Given the description of an element on the screen output the (x, y) to click on. 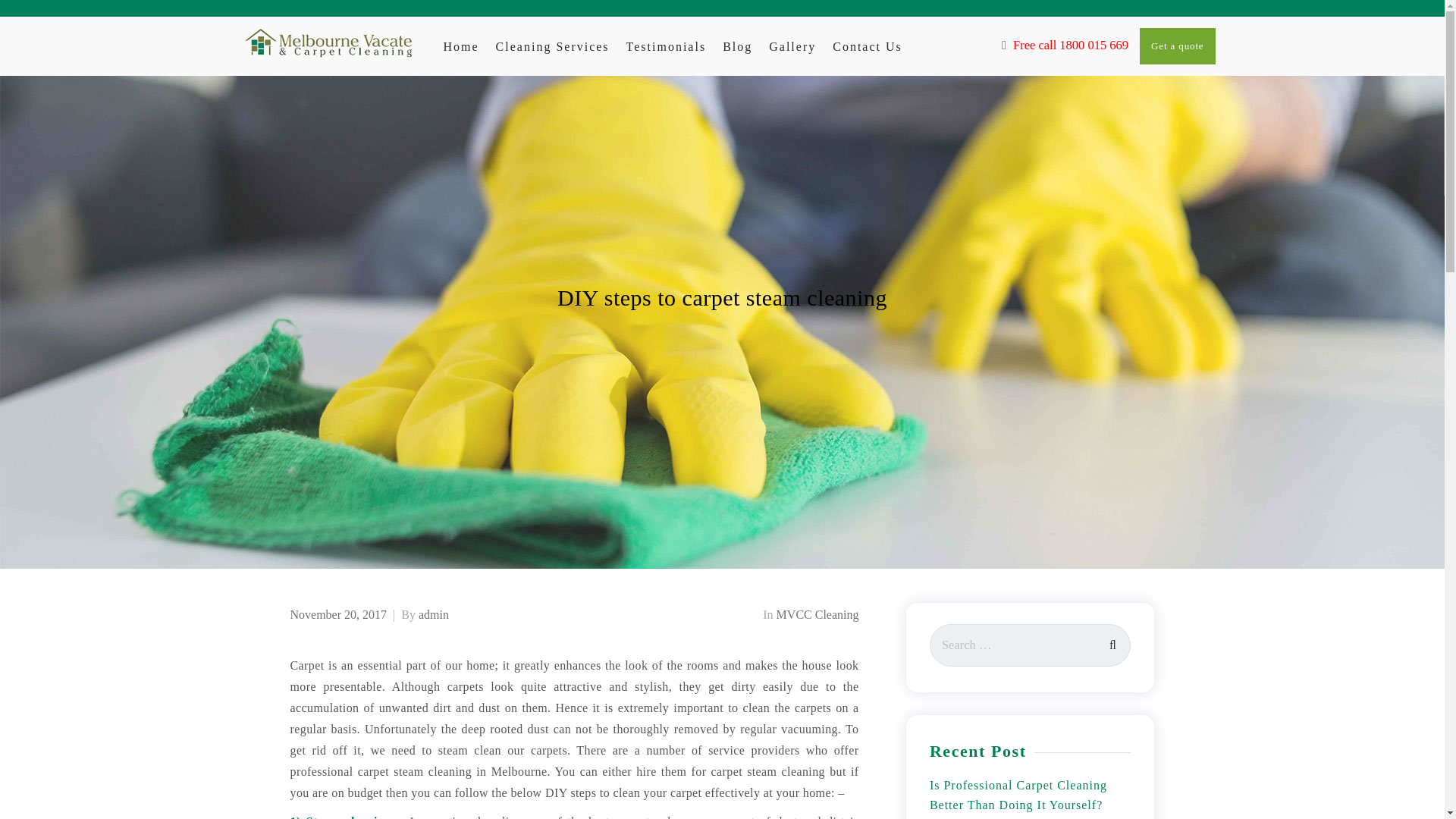
Free call 1800 015 669 (1064, 44)
Gallery (791, 47)
Contact Us (867, 47)
Testimonials (666, 47)
Cleaning Services (553, 47)
Search (1112, 641)
Home (460, 47)
Search (1112, 641)
Blog (737, 47)
